Given the description of an element on the screen output the (x, y) to click on. 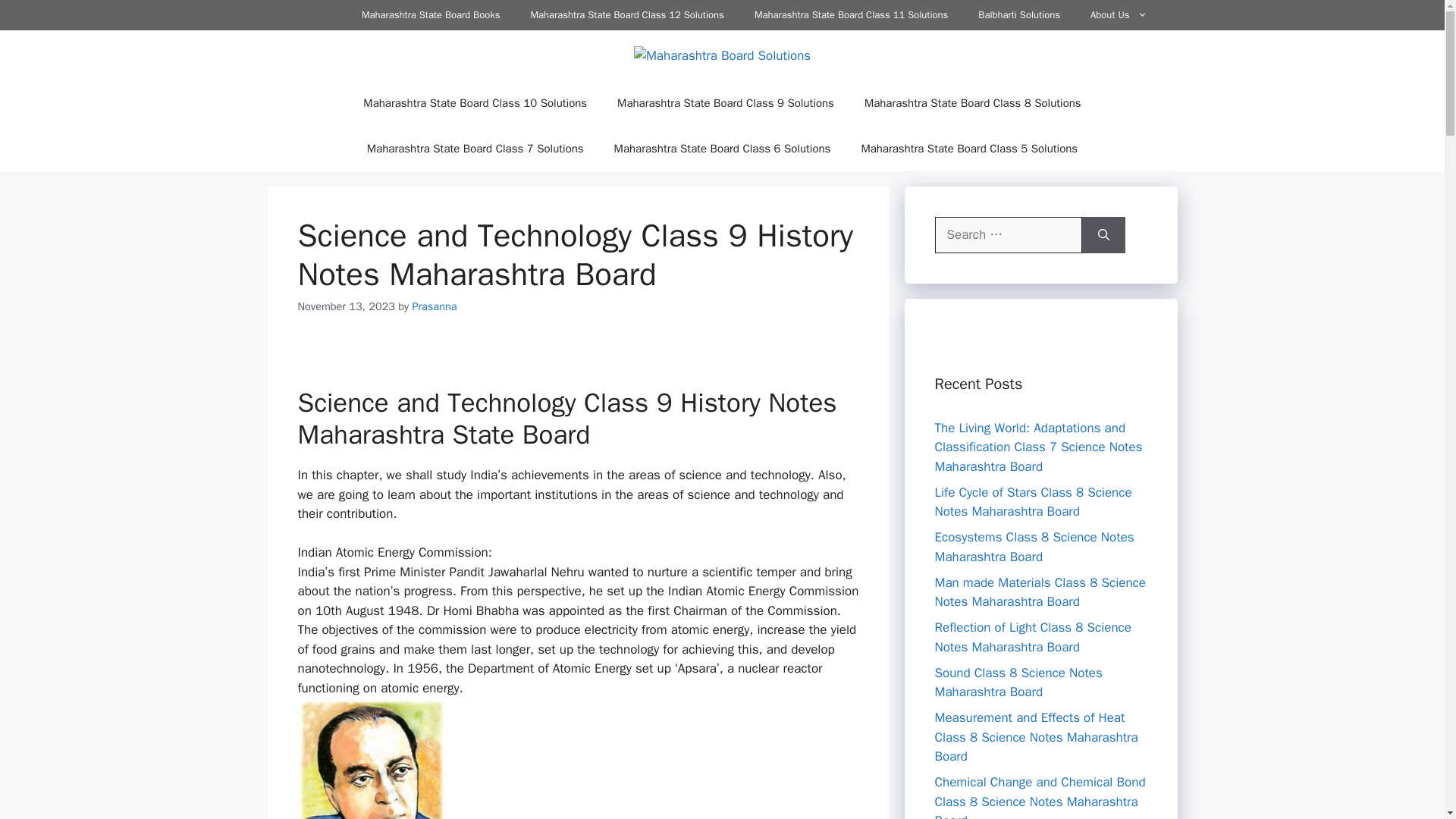
Maharashtra State Board Class 7 Solutions (475, 148)
Life Cycle of Stars Class 8 Science Notes Maharashtra Board (1032, 502)
Maharashtra State Board Class 8 Solutions (972, 103)
Maharashtra State Board Class 12 Solutions (626, 15)
Maharashtra State Board Class 10 Solutions (474, 103)
Maharashtra State Board Class 5 Solutions (969, 148)
Maharashtra State Board Books (430, 15)
Man made Materials Class 8 Science Notes Maharashtra Board (1039, 592)
Maharashtra State Board Class 6 Solutions (721, 148)
Balbharti Solutions (1018, 15)
Search for: (1007, 235)
Maharashtra State Board Class 9 Solutions (725, 103)
